Given the description of an element on the screen output the (x, y) to click on. 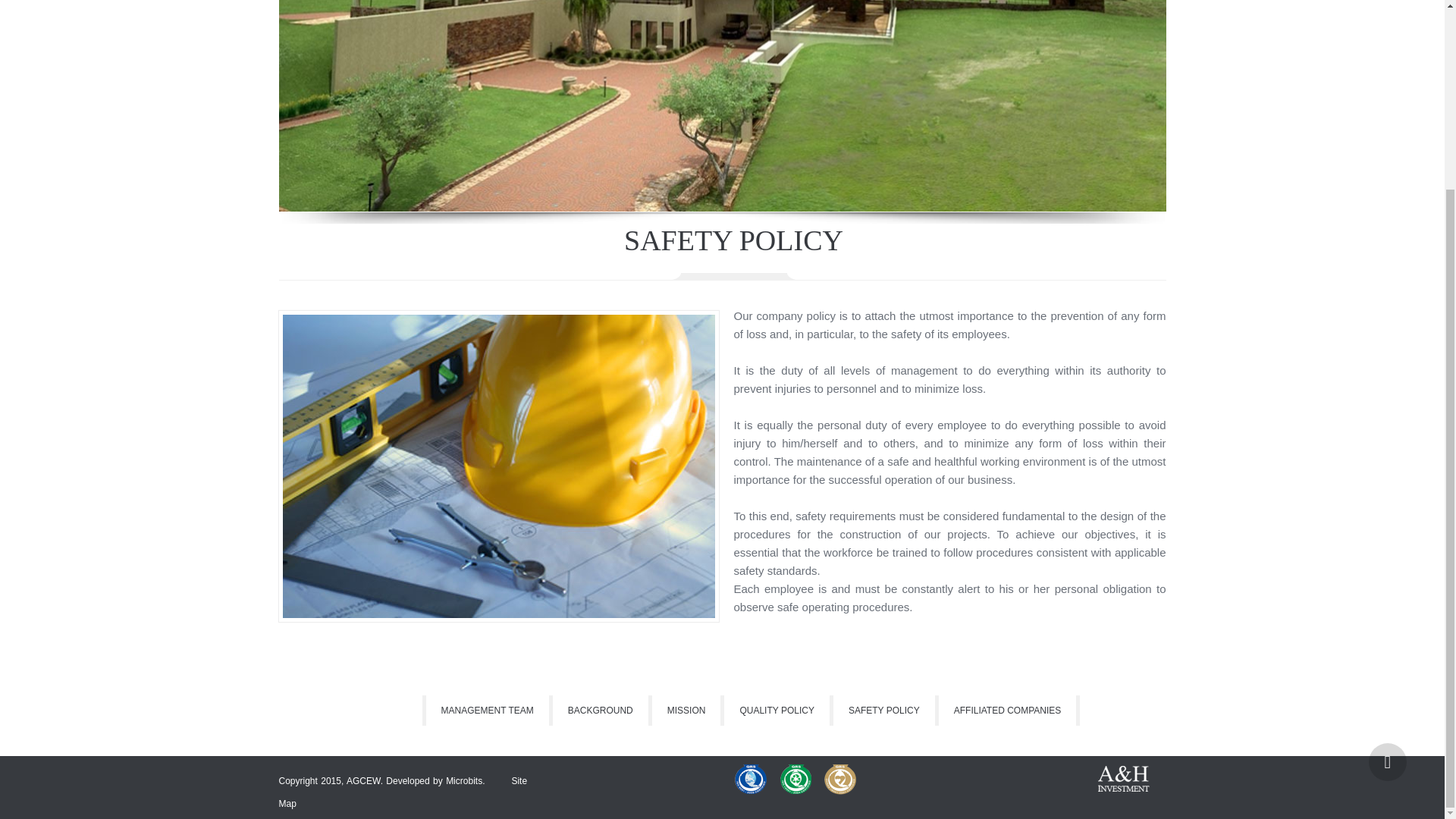
MISSION (688, 710)
BACKGROUND (602, 710)
AFFILIATED COMPANIES (1009, 710)
QUALITY POLICY (777, 710)
Site Map (403, 792)
MANAGEMENT TEAM (486, 710)
SAFETY POLICY (885, 710)
Microbits (463, 780)
